Given the description of an element on the screen output the (x, y) to click on. 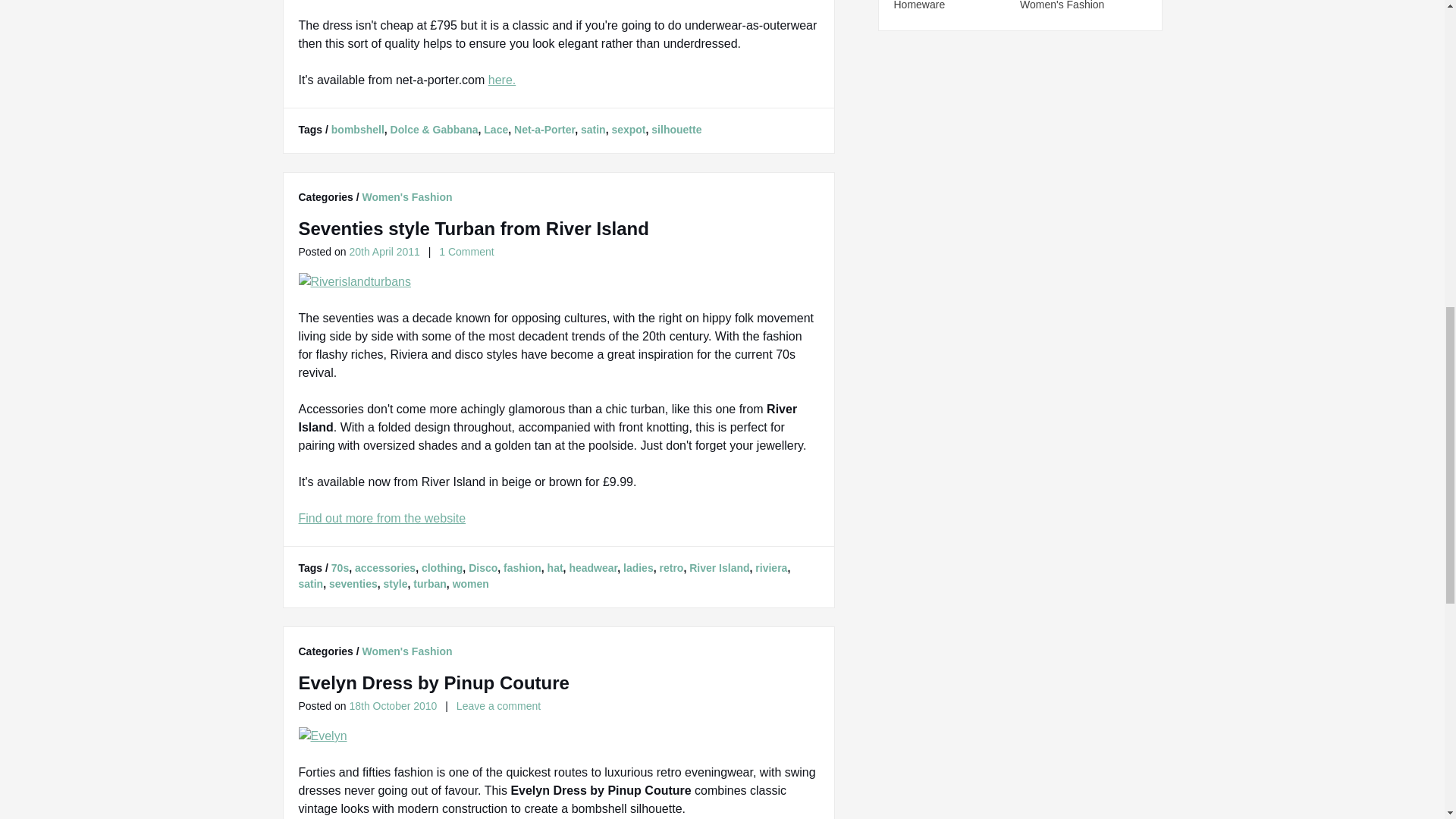
Riverislandturbans (355, 281)
Evelyn (322, 736)
